Given the description of an element on the screen output the (x, y) to click on. 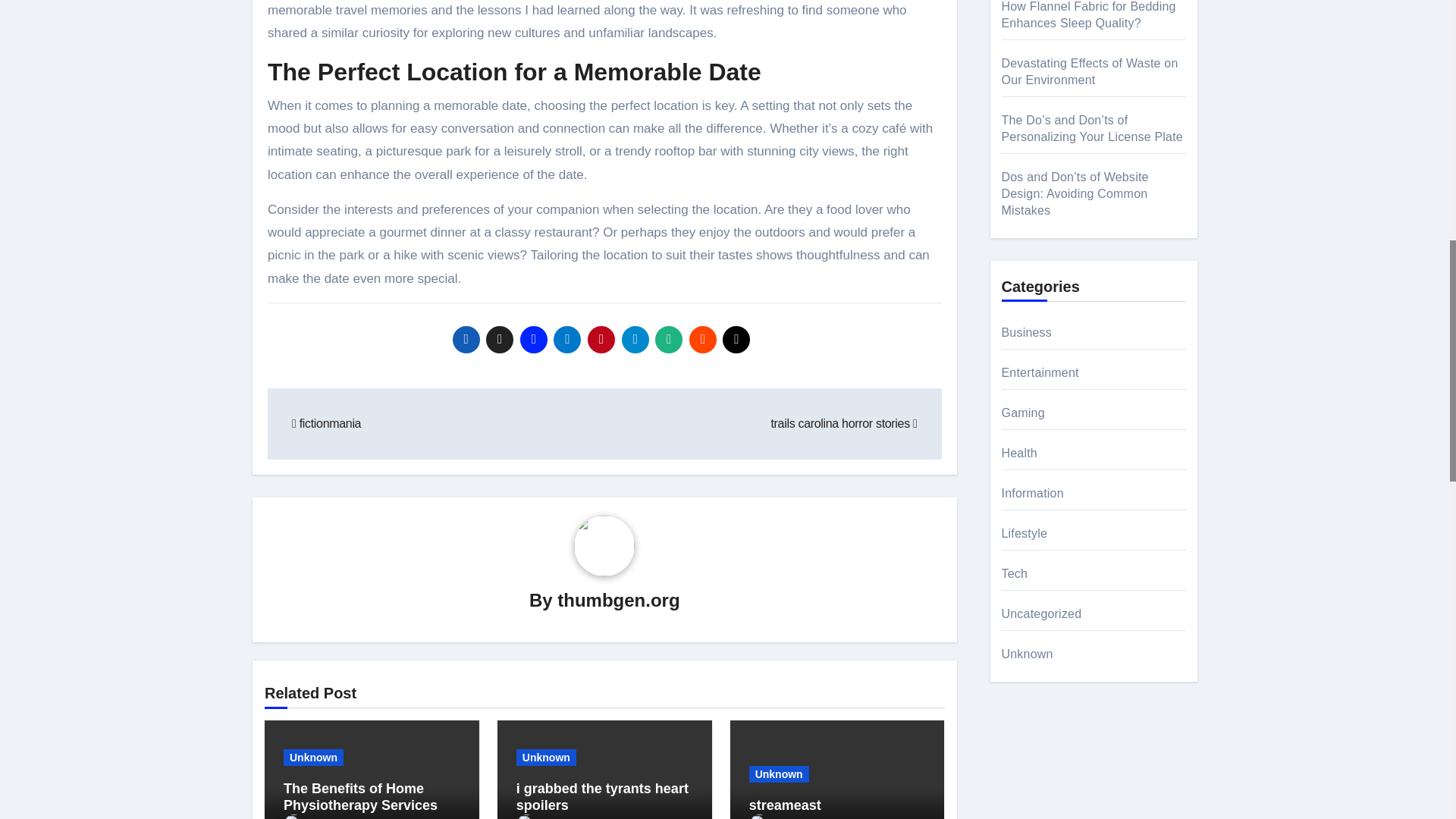
Permalink to: The Benefits of Home Physiotherapy Services (360, 797)
Permalink to: i grabbed the tyrants heart spoilers (602, 797)
Permalink to: streameast (785, 805)
fictionmania (326, 422)
